Given the description of an element on the screen output the (x, y) to click on. 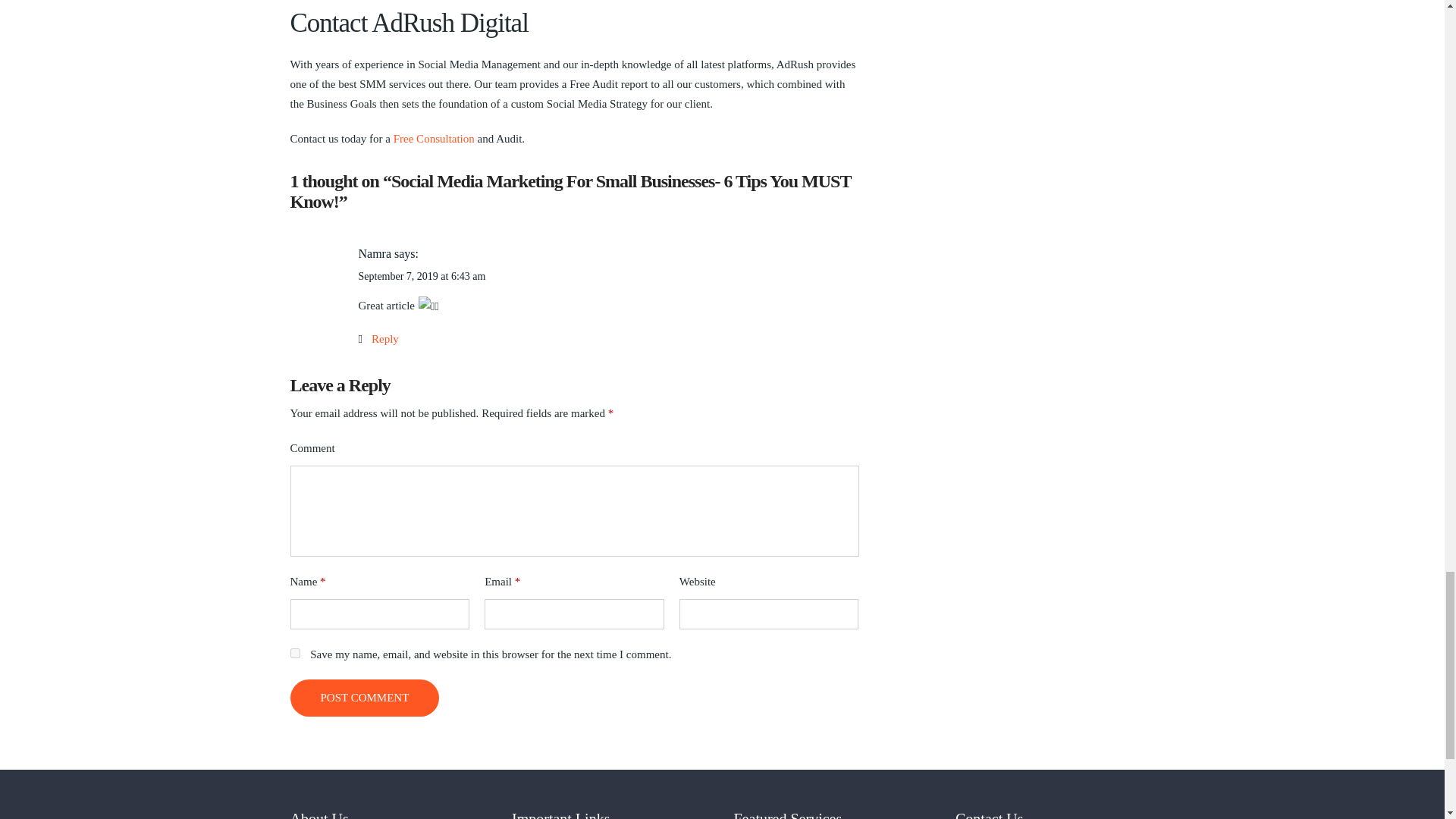
September 7, 2019 at 6:43 am (421, 276)
Free Consultation (433, 138)
yes (294, 653)
POST COMMENT (364, 697)
Reply (377, 338)
